Given the description of an element on the screen output the (x, y) to click on. 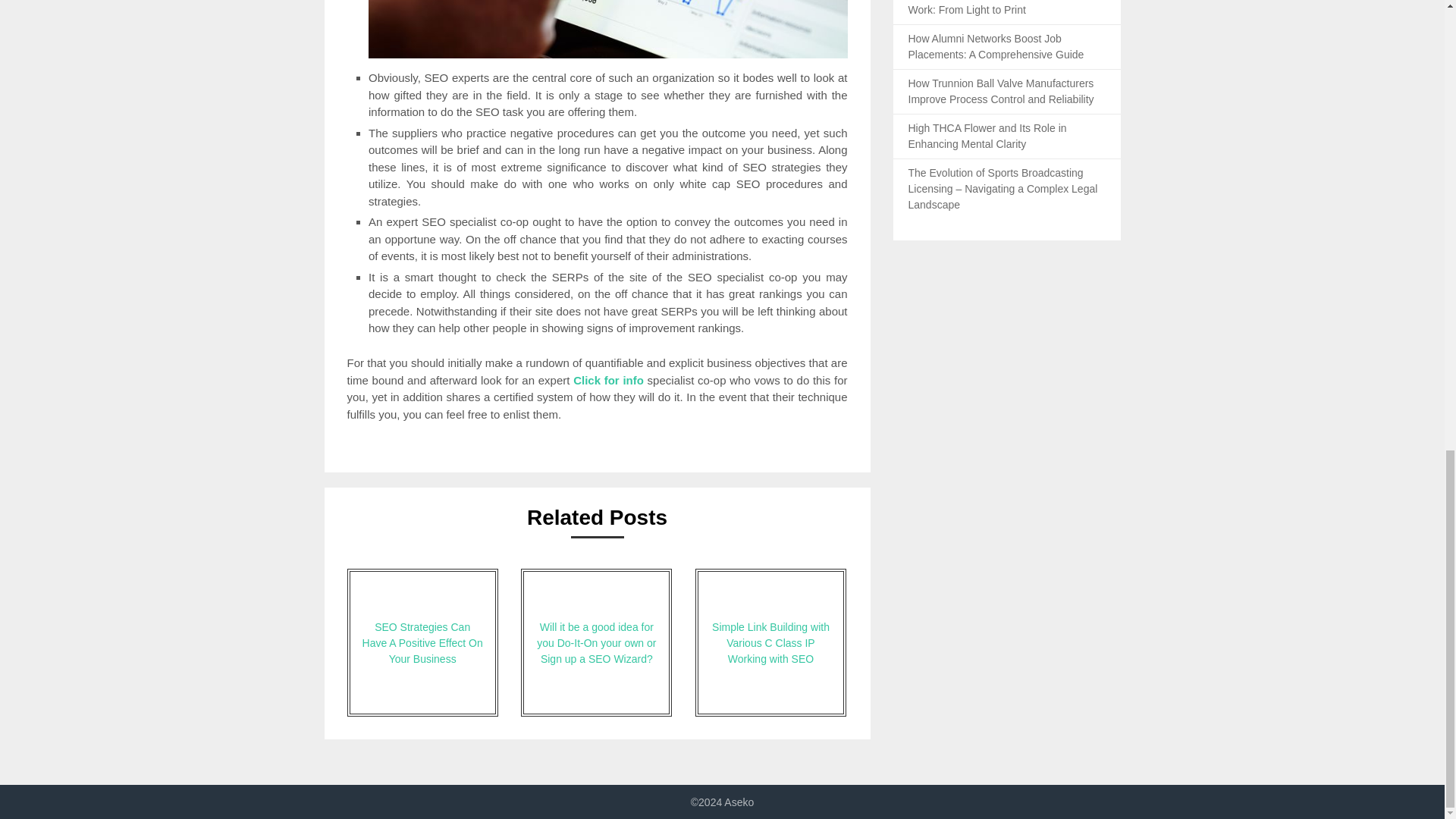
SEO Strategies Can Have A Positive Effect On Your Business (422, 642)
High THCA Flower and Its Role in Enhancing Mental Clarity (987, 135)
Click for info (608, 379)
SEO Strategies Can Have A Positive Effect On Your Business (422, 642)
